Given the description of an element on the screen output the (x, y) to click on. 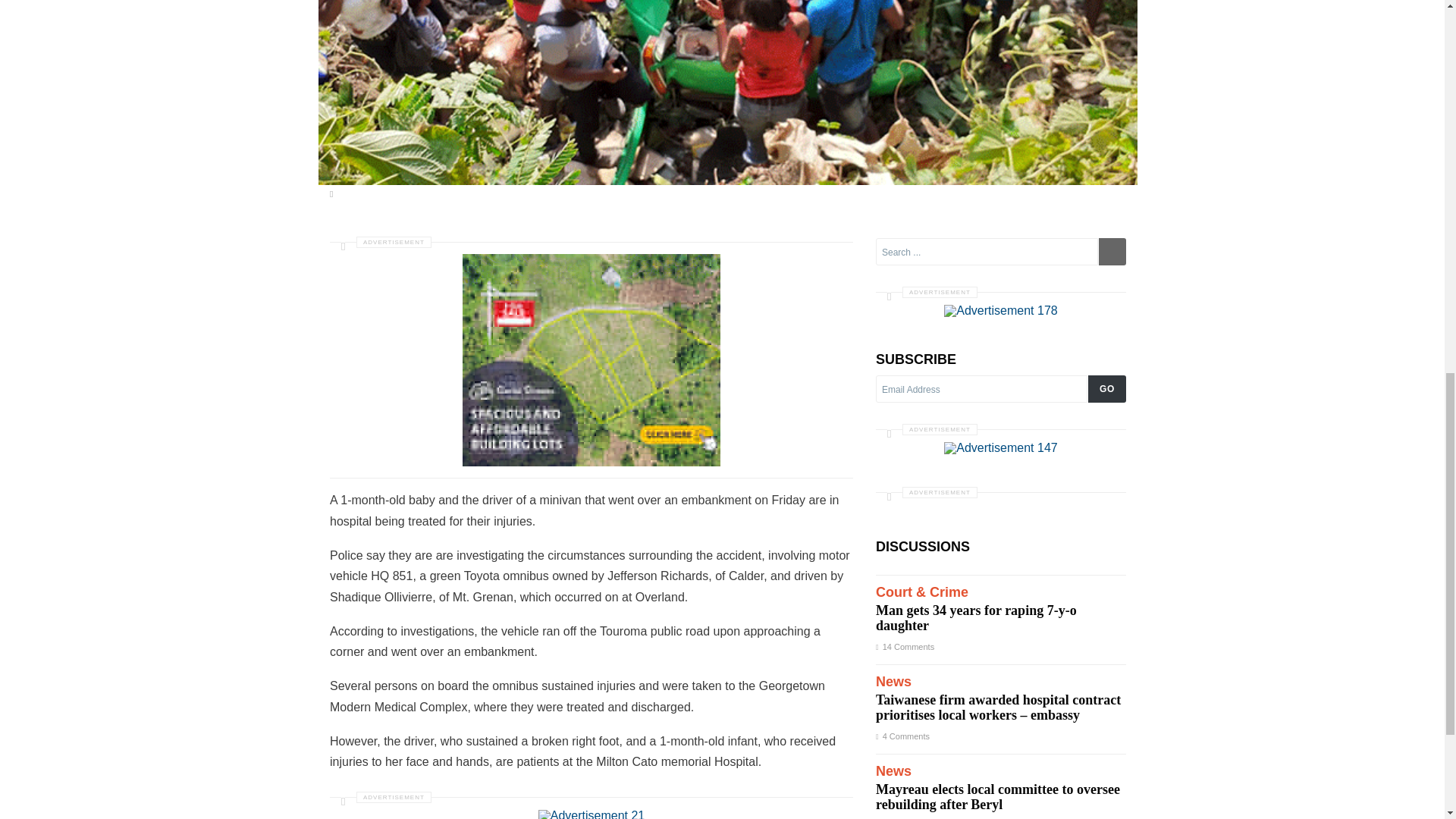
Man gets 34 years for raping 7-y-o daughter (1000, 610)
Baby injured in Overland accident 1 (591, 814)
